Given the description of an element on the screen output the (x, y) to click on. 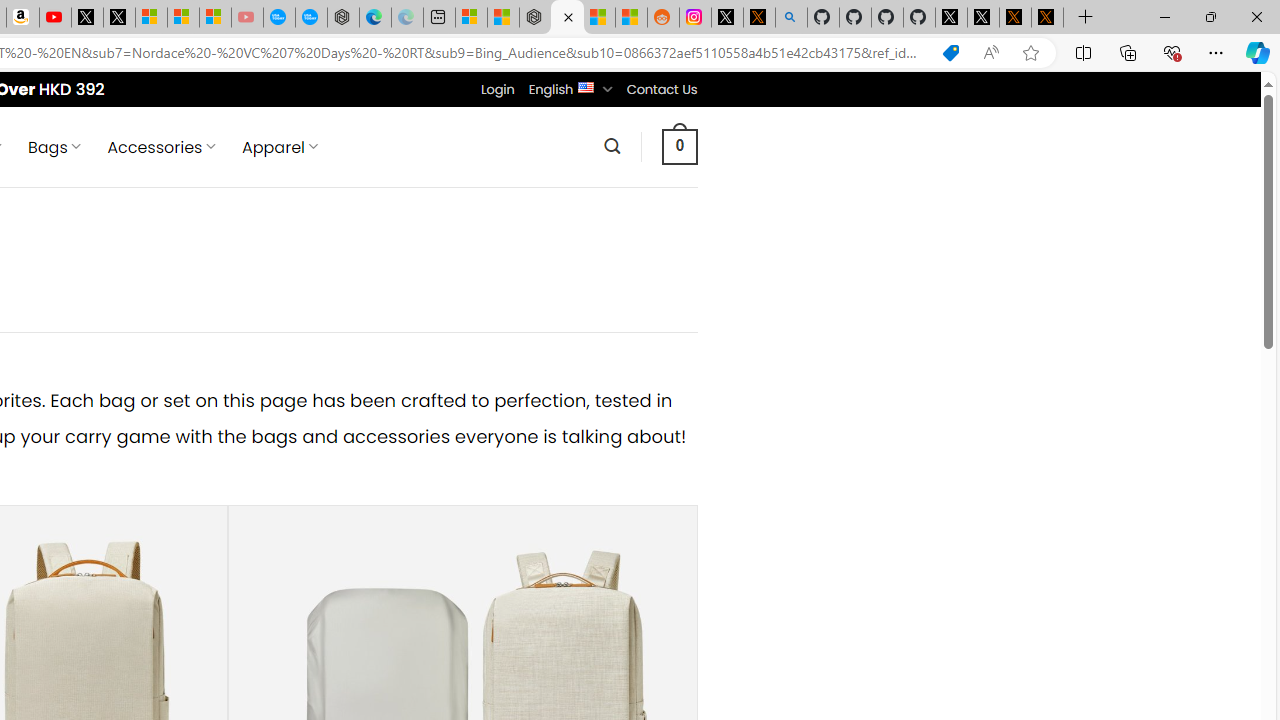
GitHub (@github) / X (983, 17)
 0  (679, 146)
Login (497, 89)
The most popular Google 'how to' searches (310, 17)
English (586, 86)
X Privacy Policy (1047, 17)
